Given the description of an element on the screen output the (x, y) to click on. 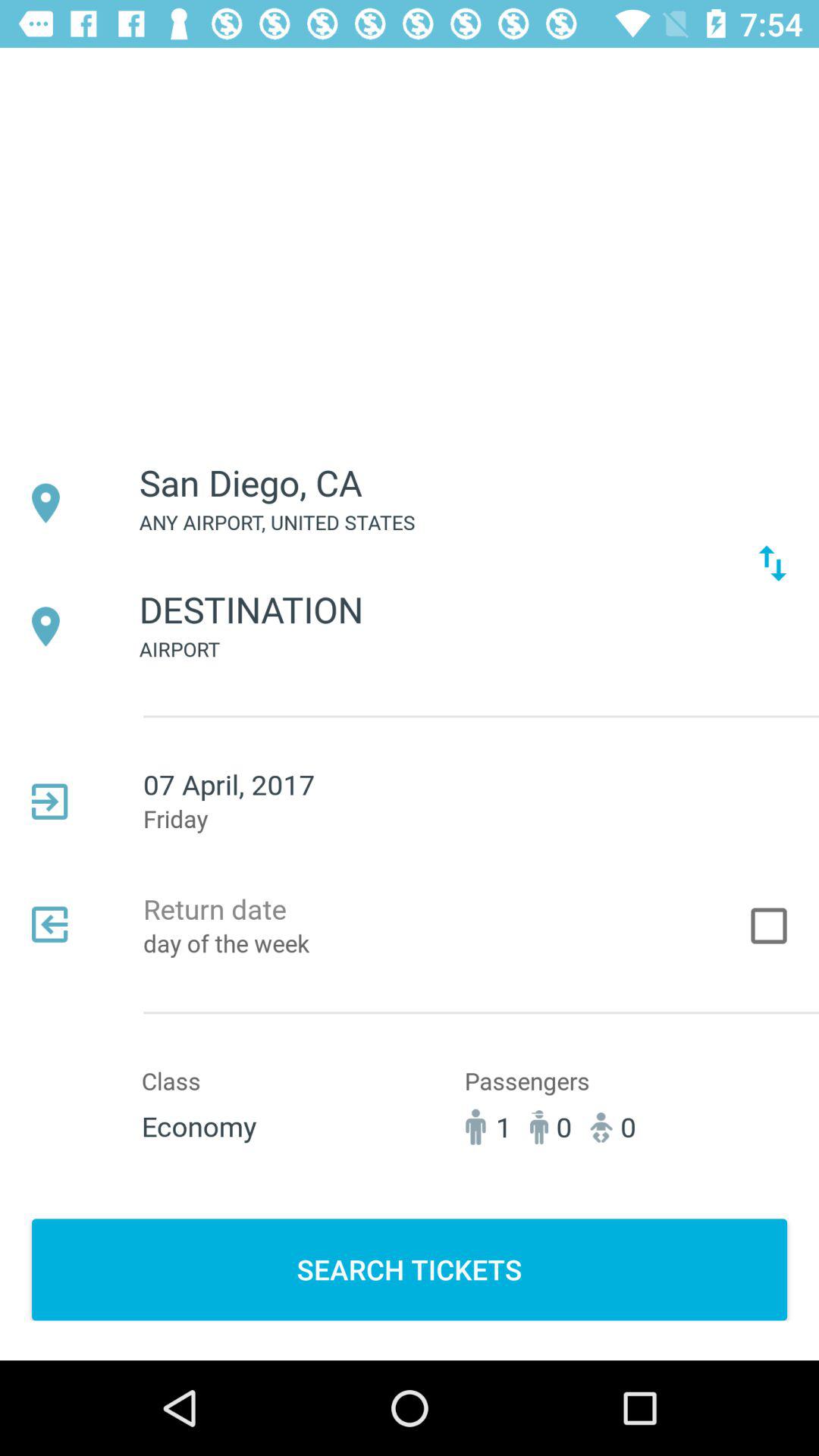
flip to the search tickets item (409, 1269)
